Given the description of an element on the screen output the (x, y) to click on. 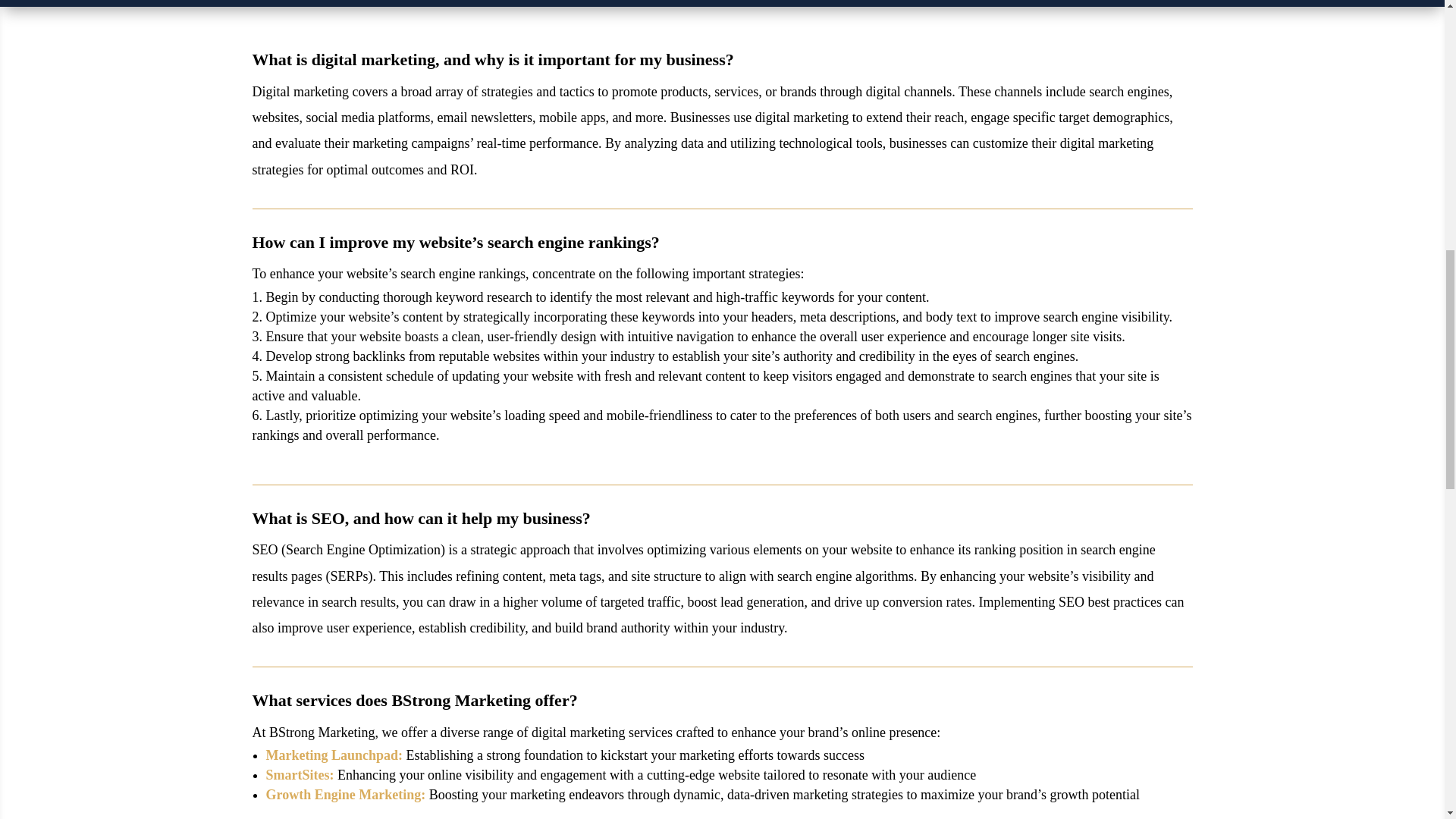
SmartSites: (298, 774)
Growth Engine Marketing:  (346, 794)
Marketing Launchpad: (333, 754)
